Given the description of an element on the screen output the (x, y) to click on. 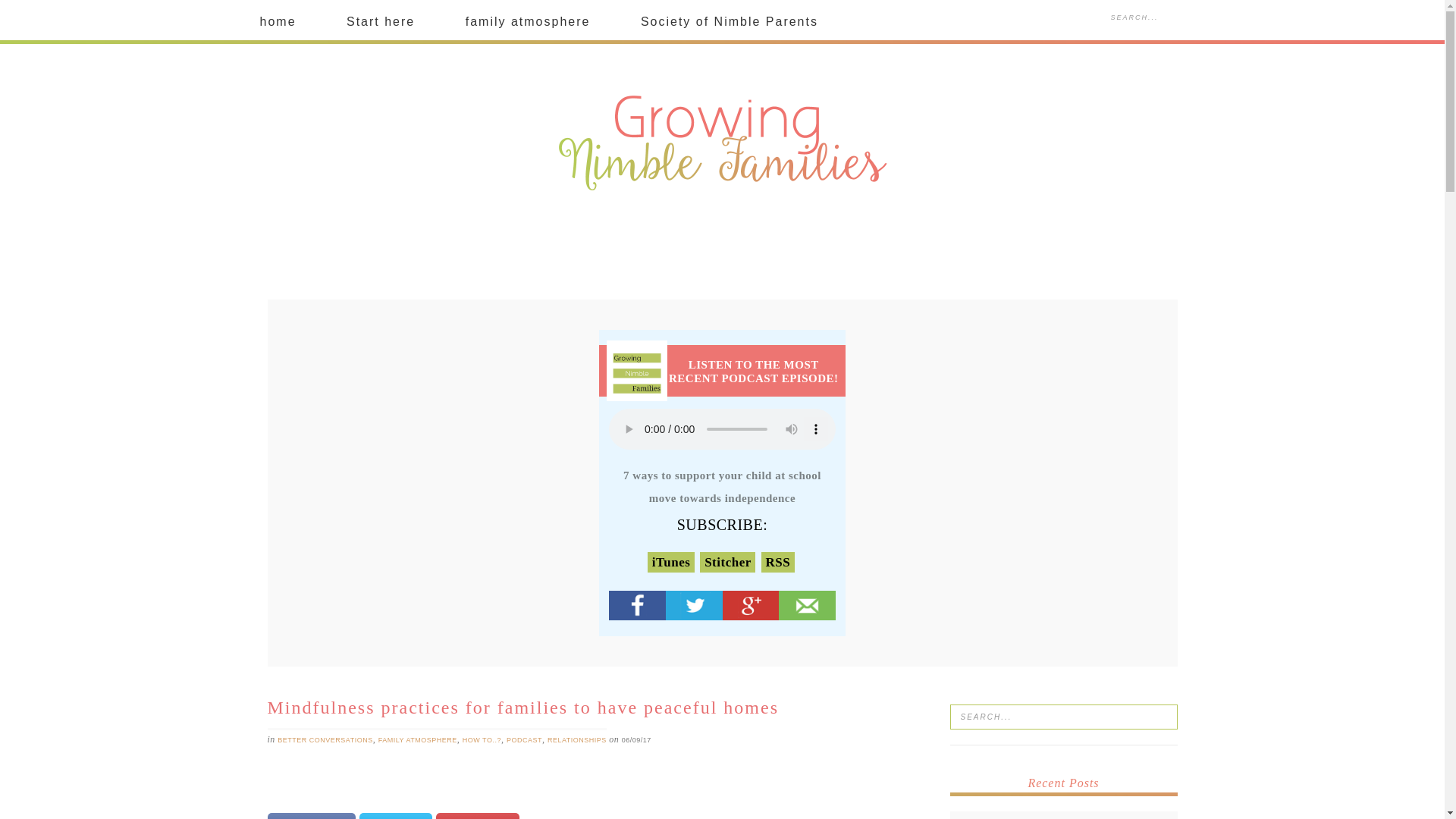
Pinterest (477, 816)
Share on Twitter (395, 816)
Twitter (395, 816)
Society of Nimble Parents (729, 22)
RSS (777, 562)
Share on Pinterest (477, 816)
Start here (380, 22)
home (276, 22)
iTunes (670, 562)
